Given the description of an element on the screen output the (x, y) to click on. 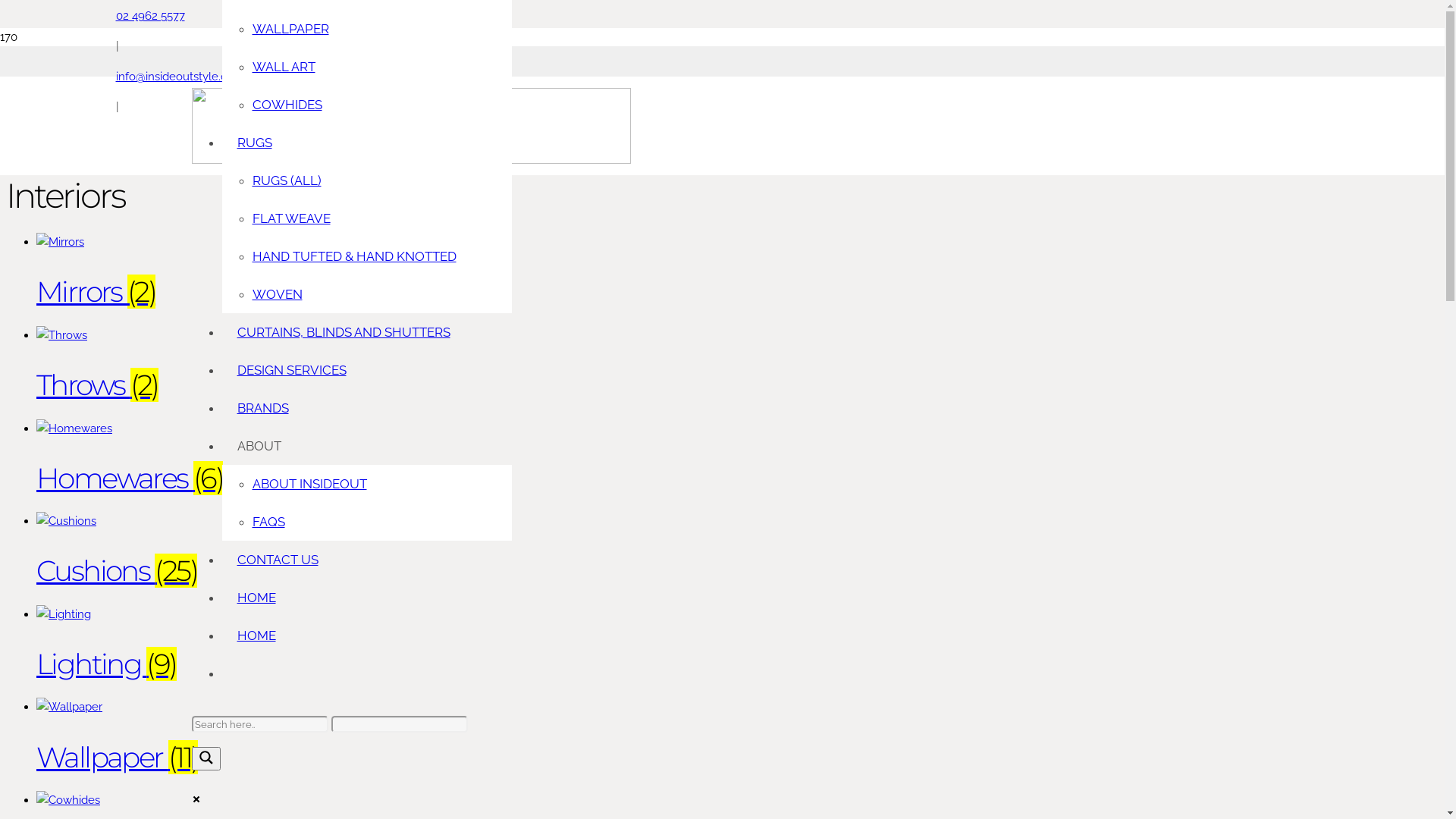
Cushions (25) Element type: text (522, 550)
FLAT WEAVE Element type: text (290, 217)
CONTACT US Element type: text (276, 559)
Throws (2) Element type: text (522, 364)
RUGS (ALL) Element type: text (285, 180)
Mirrors (2) Element type: text (522, 271)
Lighting (9) Element type: text (522, 643)
HOME Element type: text (255, 635)
Start search Element type: text (490, 718)
WALL ART Element type: text (282, 66)
info@insideoutstyle.com.au Element type: text (186, 76)
WALLPAPER Element type: text (289, 28)
BRANDS Element type: text (262, 407)
02 4962 5577 Element type: text (149, 15)
ABOUT Element type: text (258, 445)
WOVEN Element type: text (276, 293)
Homewares (6) Element type: text (522, 458)
DESIGN SERVICES Element type: text (290, 369)
COWHIDES Element type: text (286, 104)
CURTAINS, BLINDS AND SHUTTERS Element type: text (342, 331)
HAND TUFTED & HAND KNOTTED Element type: text (353, 255)
ABOUT INSIDEOUT Element type: text (308, 483)
FAQS Element type: text (267, 521)
RUGS Element type: text (253, 142)
Home Element type: text (52, 95)
HOME Element type: text (255, 597)
Wallpaper (11) Element type: text (522, 736)
